Given the description of an element on the screen output the (x, y) to click on. 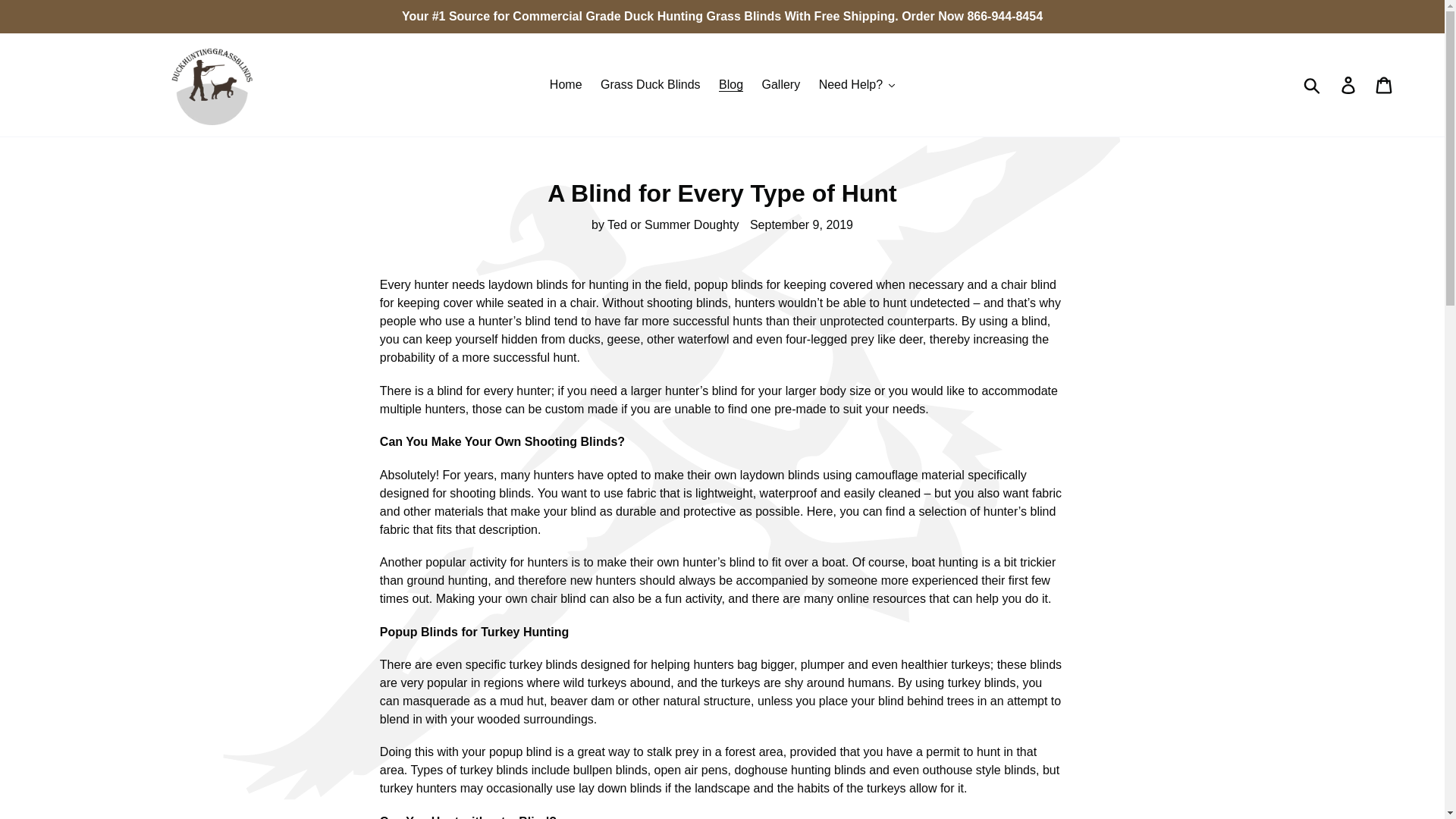
Blog (731, 84)
Submit (1313, 84)
Log in (1349, 84)
Home (565, 84)
Cart (1385, 84)
Gallery (781, 84)
Grass Duck Blinds (649, 84)
